Given the description of an element on the screen output the (x, y) to click on. 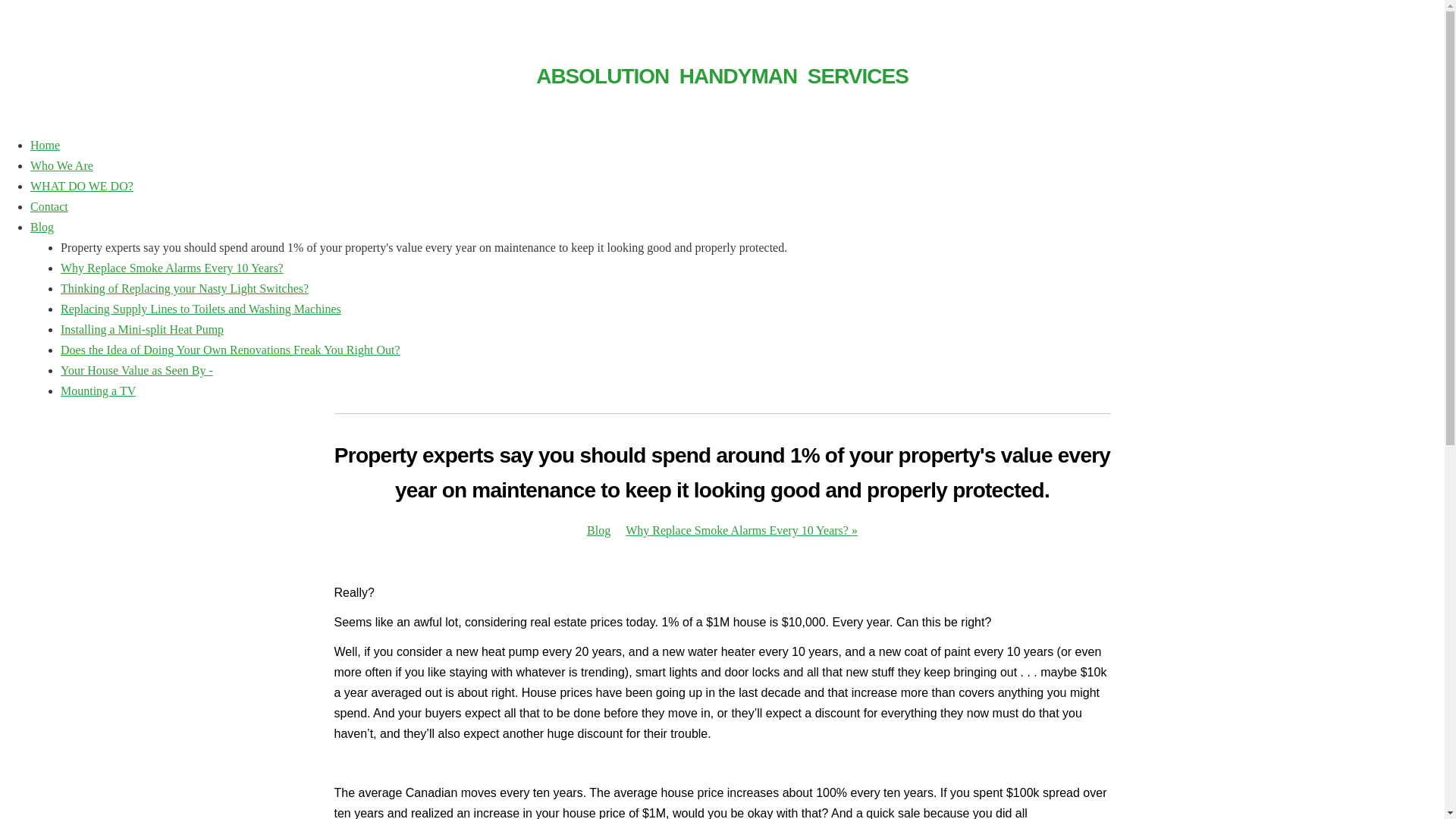
WHAT DO WE DO? Element type: text (81, 185)
Replacing Supply Lines to Toilets and Washing Machines Element type: text (200, 308)
ABSOLUTION  HANDYMAN  SERVICES Element type: text (722, 68)
Thinking of Replacing your Nasty Light Switches? Element type: text (184, 288)
Contact Element type: text (49, 206)
Who We Are Element type: text (61, 165)
Mounting a TV Element type: text (97, 390)
Home Element type: text (44, 144)
Installing a Mini-split Heat Pump Element type: text (141, 329)
Why Replace Smoke Alarms Every 10 Years? Element type: text (171, 267)
Blog Element type: text (598, 530)
Blog Element type: text (41, 226)
Your House Value as Seen By - Element type: text (136, 370)
